Given the description of an element on the screen output the (x, y) to click on. 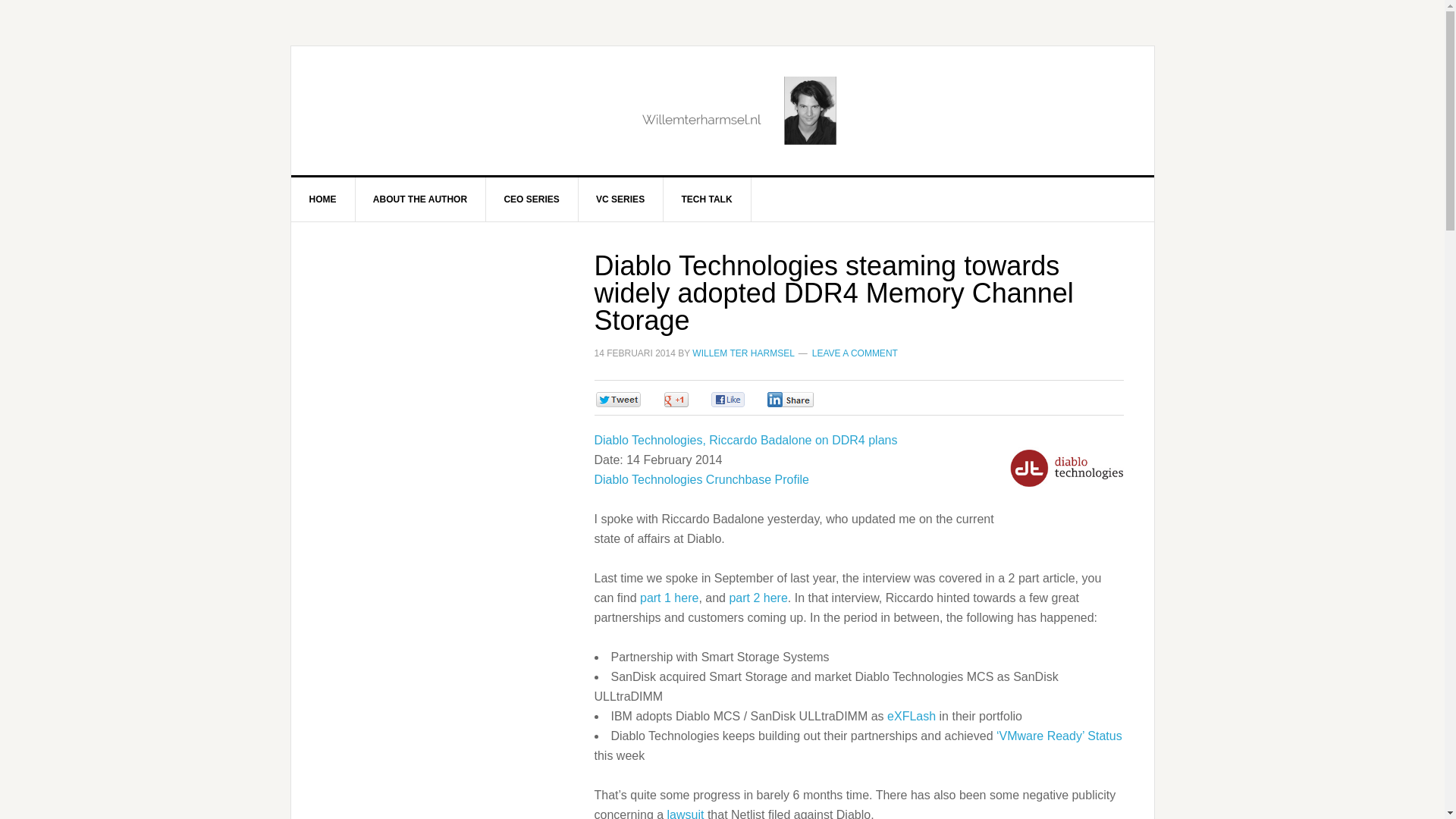
TECH TALK (706, 199)
part 2 here (758, 597)
VC SERIES (620, 199)
ABOUT THE AUTHOR (420, 199)
eXFLash (911, 716)
WILLEM TER HARMSEL (743, 353)
CEO SERIES (531, 199)
lawsuit (685, 813)
part 1 here (669, 597)
Be the first one to tweet this article! (634, 398)
Diablo Technologies, Riccardo Badalone on DDR4 plans (746, 440)
LEAVE A COMMENT (855, 353)
Diablo Technologies Crunchbase Profile (701, 479)
HOME (323, 199)
